Given the description of an element on the screen output the (x, y) to click on. 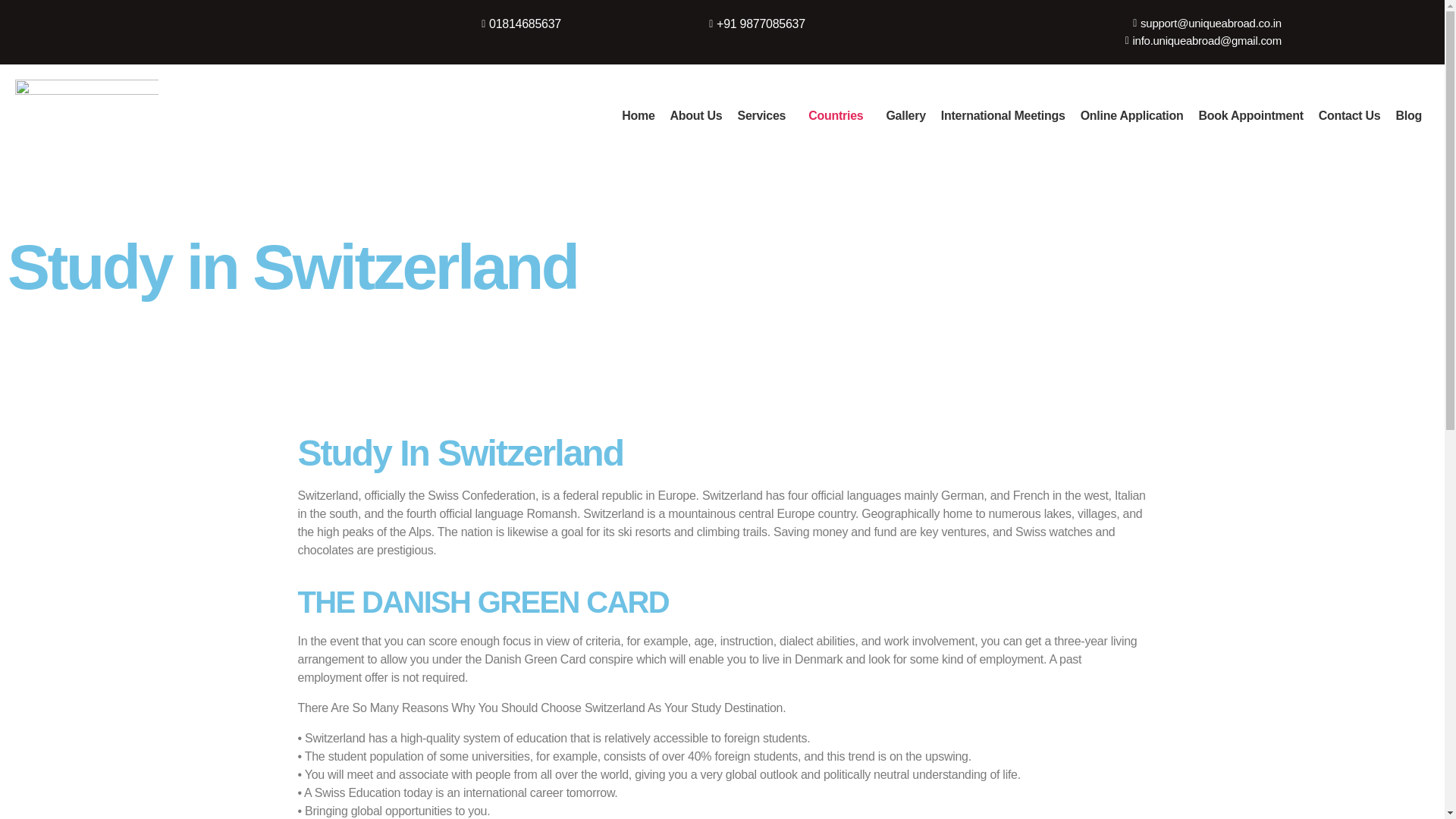
Countries (838, 115)
Gallery (905, 115)
Online Application (1132, 115)
Contact Us (1350, 115)
About Us (696, 115)
International Meetings (1003, 115)
Book Appointment (1251, 115)
01814685637 (464, 24)
Services (764, 115)
Home (638, 115)
